Given the description of an element on the screen output the (x, y) to click on. 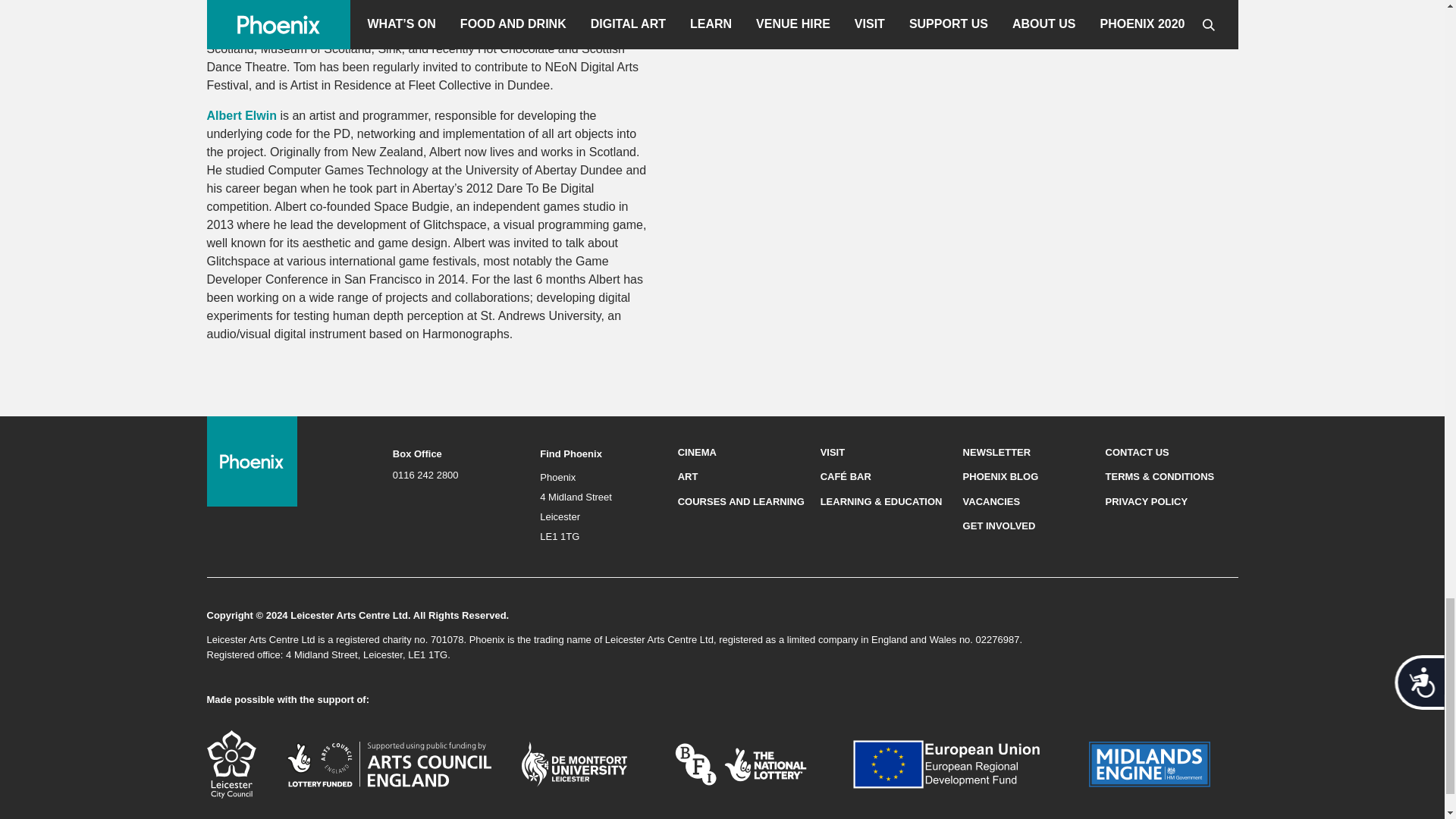
View De Montfort University website (574, 763)
View European Union website (955, 763)
View Arts Council website (389, 763)
View BFI website (740, 763)
View Midlands Engine website (1149, 763)
View Leicester City Council  website (231, 763)
